Given the description of an element on the screen output the (x, y) to click on. 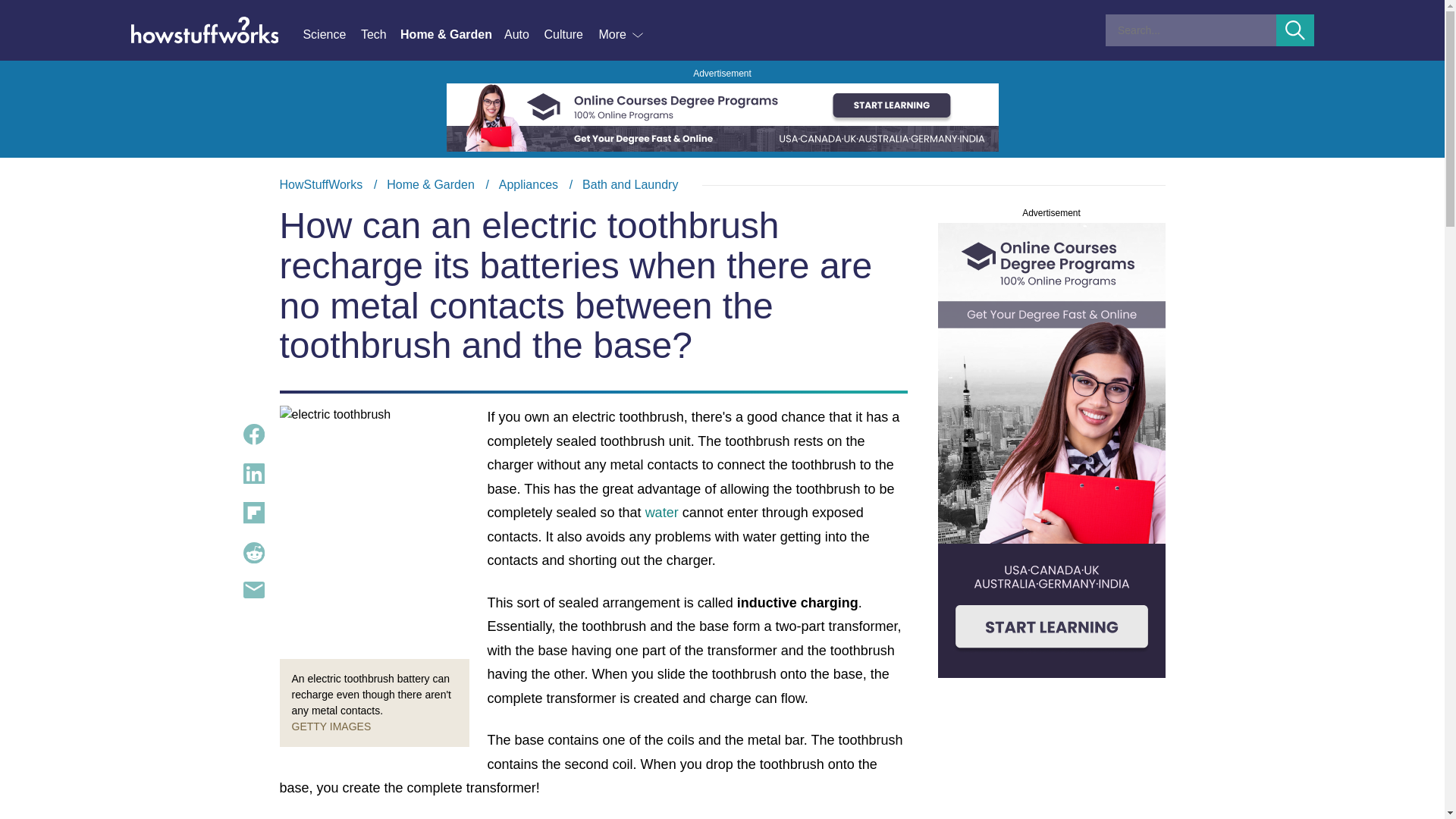
Culture (570, 34)
Bath and Laundry (630, 184)
Appliances (528, 184)
Share Content on LinkedIn (253, 473)
Science (330, 34)
Share Content on Reddit (253, 552)
Share Content via Email (253, 589)
More (621, 34)
Share Content on Facebook (253, 434)
Share Content on Flipboard (253, 512)
